Given the description of an element on the screen output the (x, y) to click on. 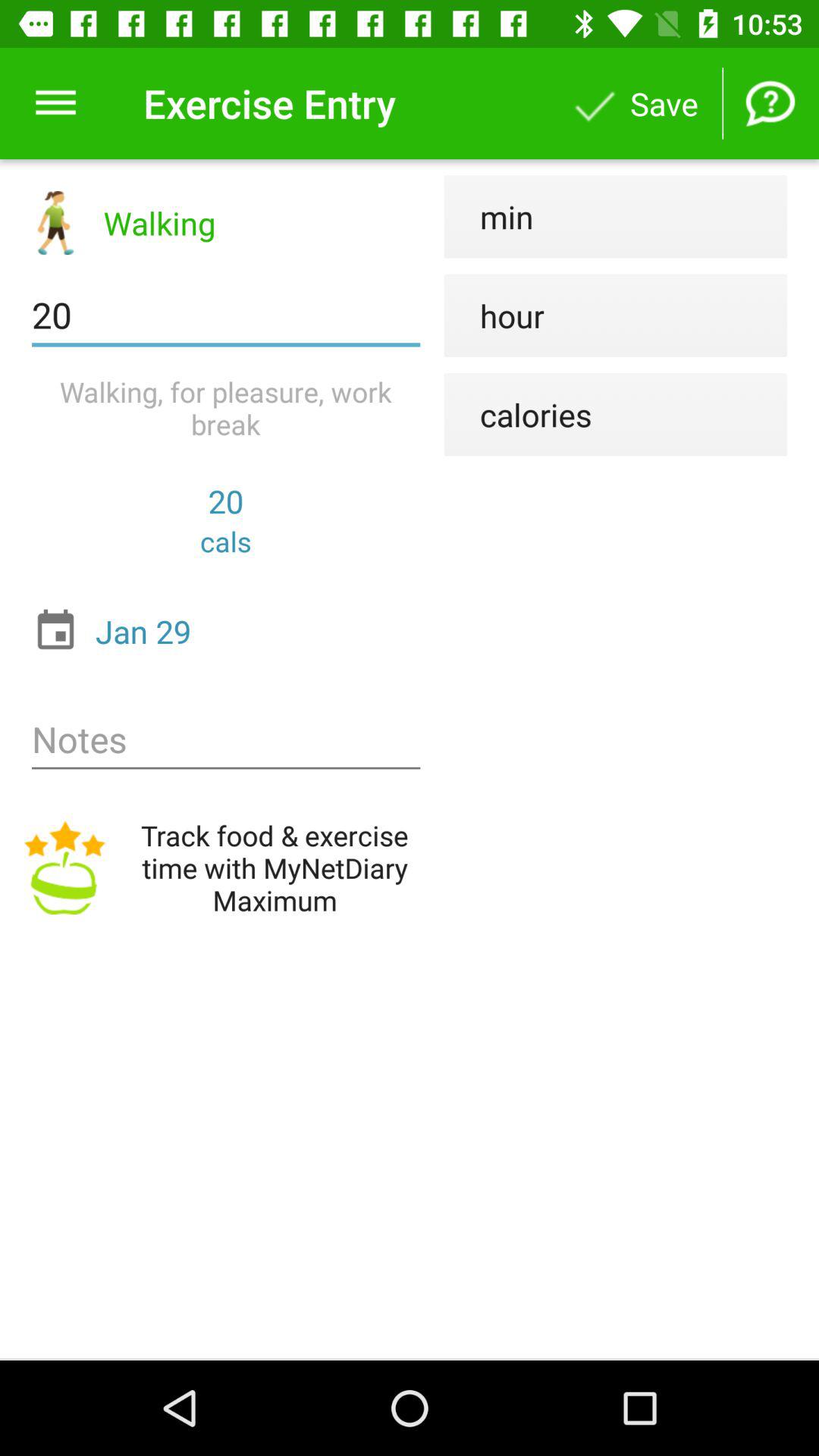
turn off the item to the right of walking item (488, 216)
